Given the description of an element on the screen output the (x, y) to click on. 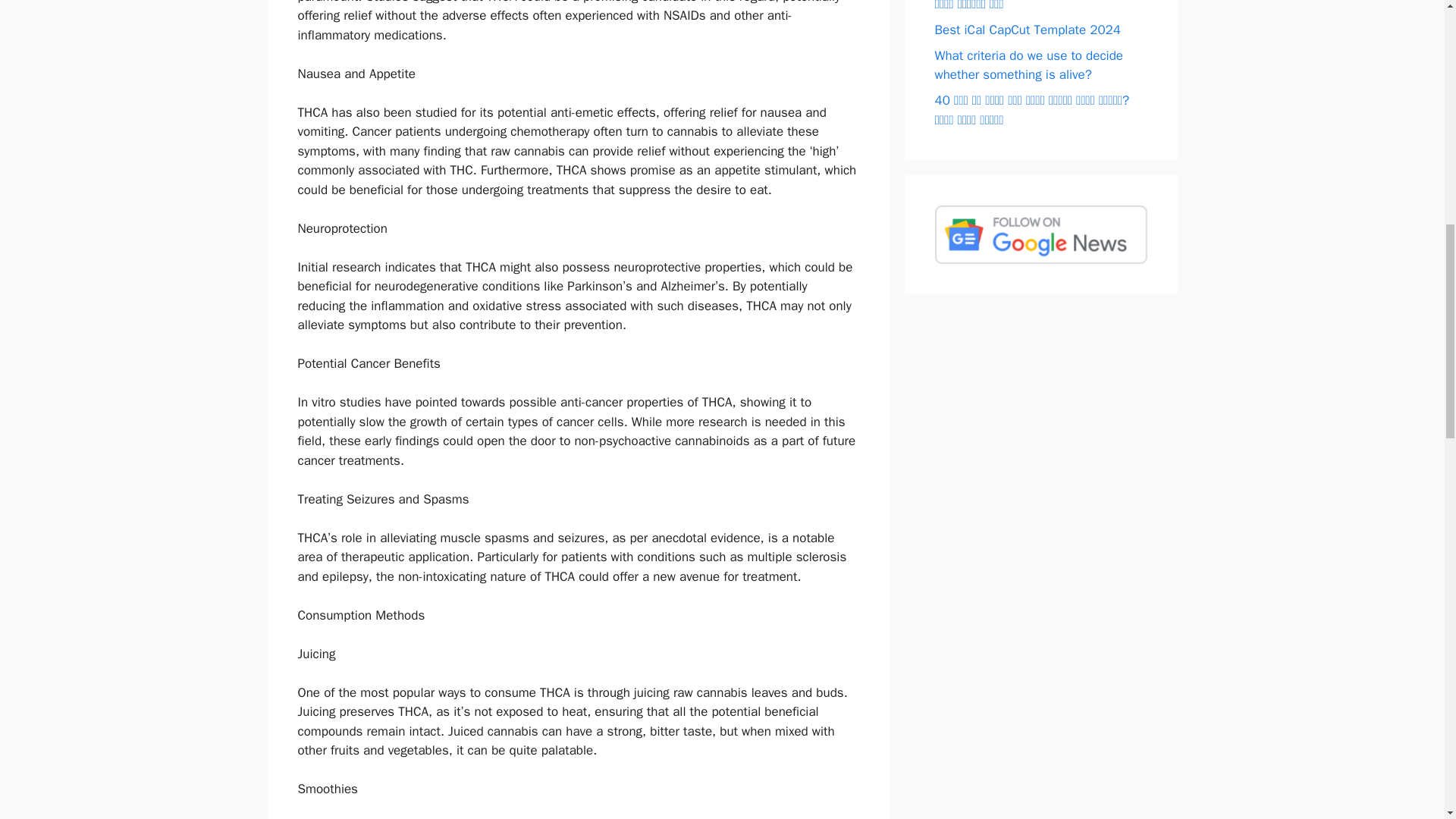
Scroll back to top (1406, 720)
